Given the description of an element on the screen output the (x, y) to click on. 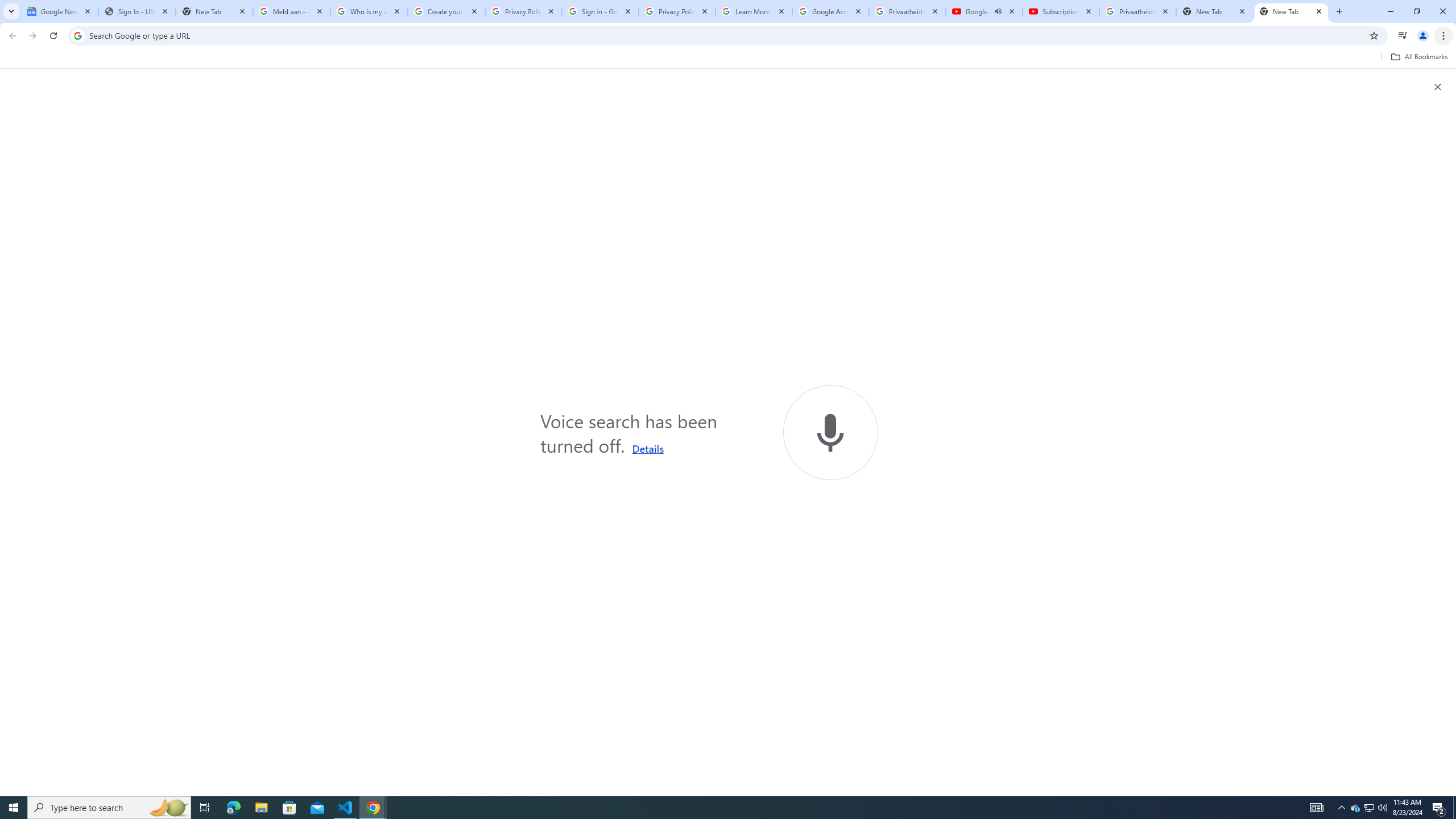
Learn more about using a microphone (647, 448)
New Tab (213, 11)
Sign in - Google Accounts (599, 11)
Google News (59, 11)
